Given the description of an element on the screen output the (x, y) to click on. 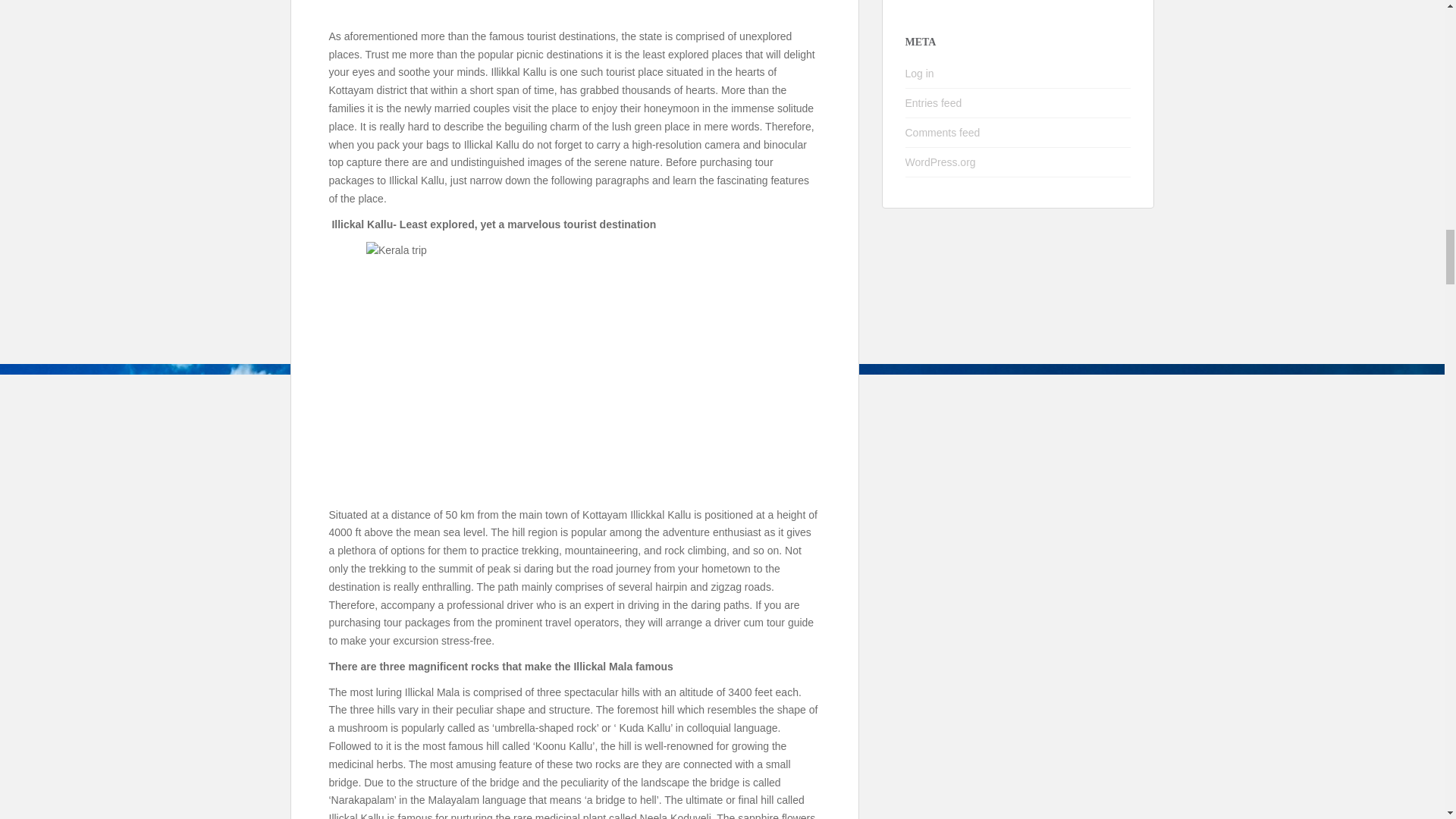
Illickal Kallu (574, 10)
Kerala Tour (574, 369)
